Given the description of an element on the screen output the (x, y) to click on. 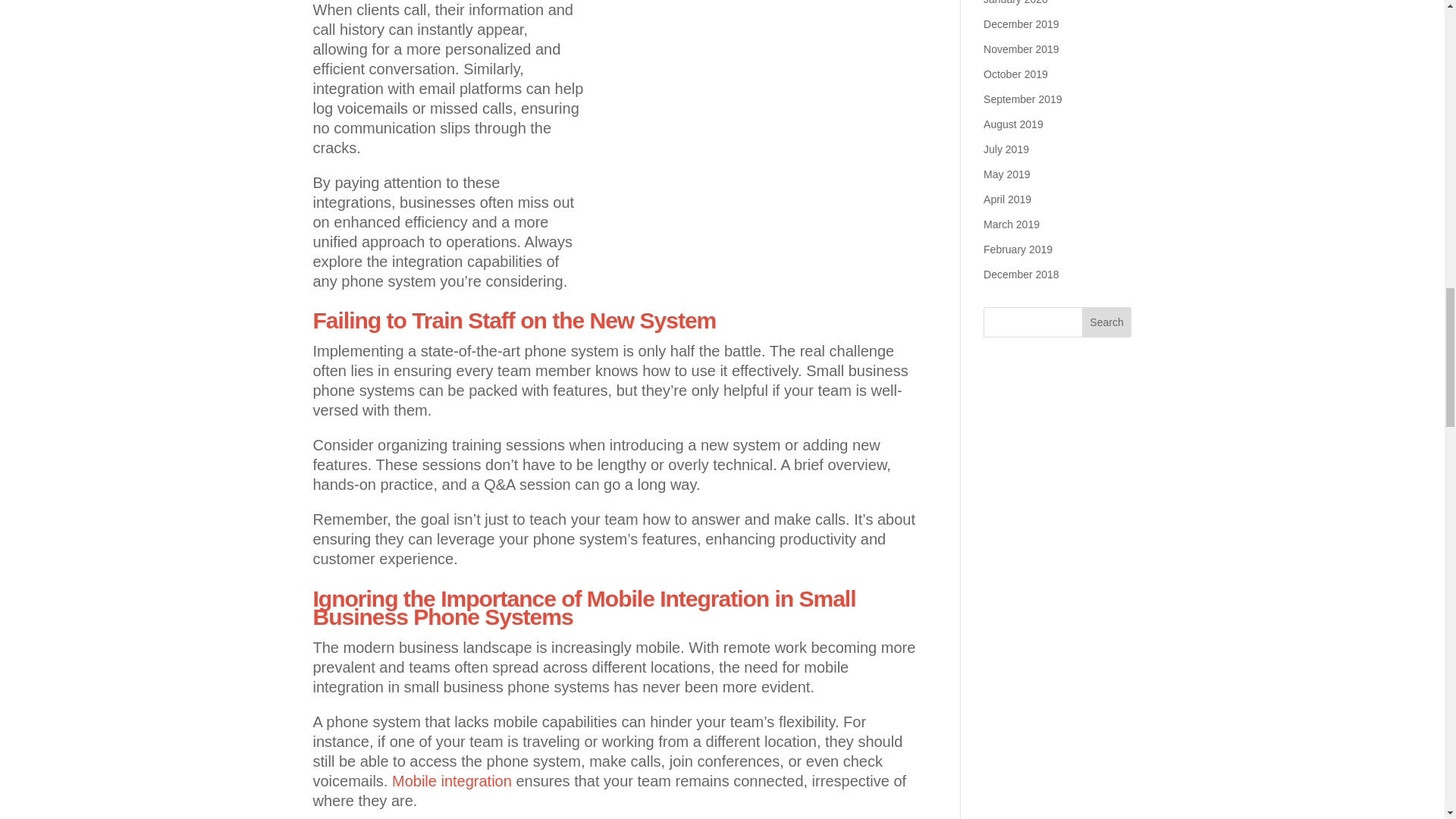
Search (1106, 322)
Mobile integration (451, 781)
